Given the description of an element on the screen output the (x, y) to click on. 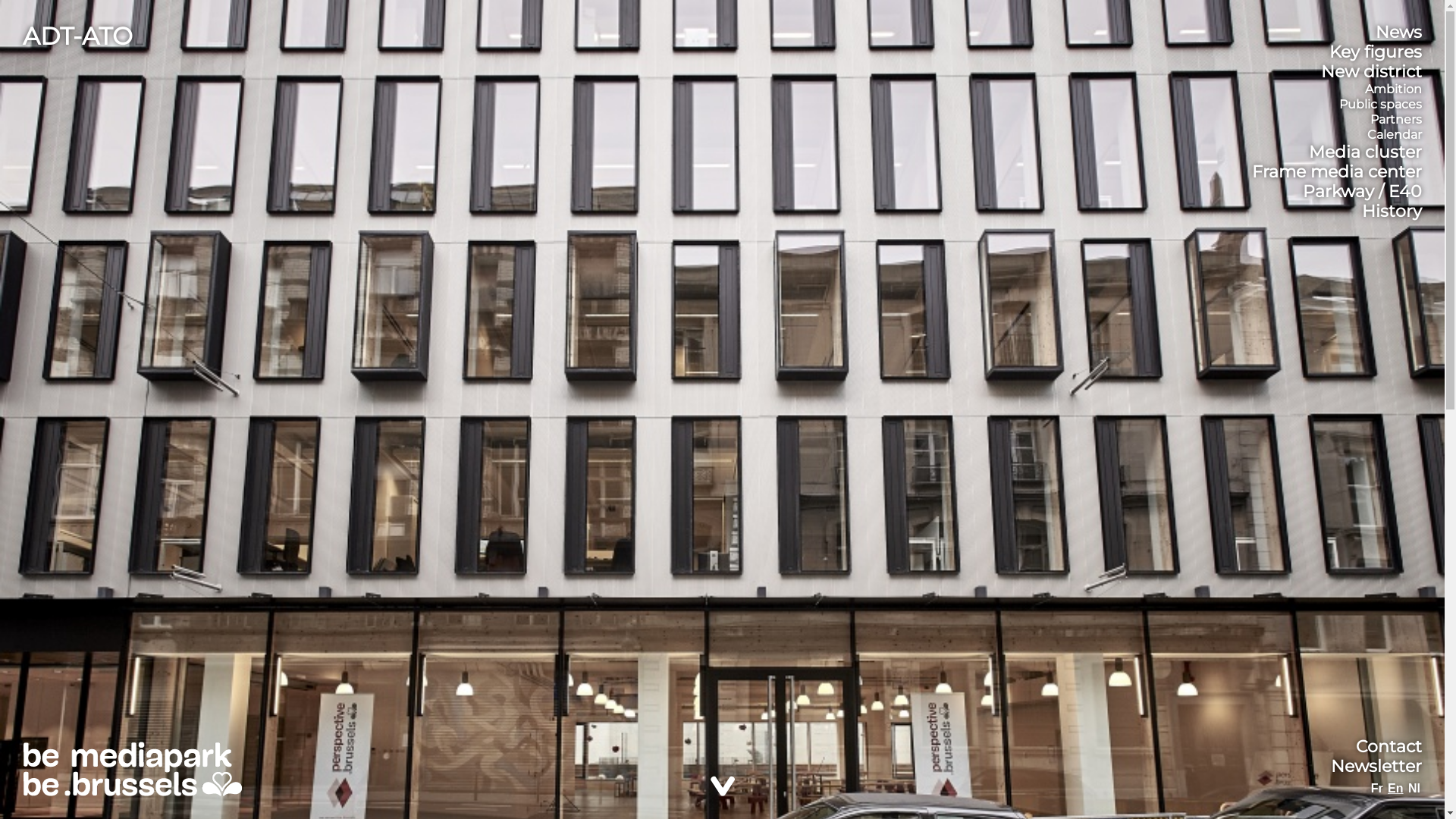
Ambition Element type: text (1393, 89)
Public spaces Element type: text (1380, 104)
Partners Element type: text (1395, 119)
Newsletter Element type: text (1375, 766)
Contact Element type: text (1388, 746)
En Element type: text (1394, 787)
New district Element type: text (1371, 71)
Fr Element type: text (1377, 787)
Key figures Element type: text (1375, 52)
News Element type: text (1398, 32)
Parkway / E40 Element type: text (1361, 191)
History Element type: text (1391, 211)
Home Element type: hover (131, 768)
Calendar Element type: text (1394, 134)
Frame media center Element type: text (1336, 172)
Media cluster Element type: text (1364, 152)
Nl Element type: text (1414, 787)
